Given the description of an element on the screen output the (x, y) to click on. 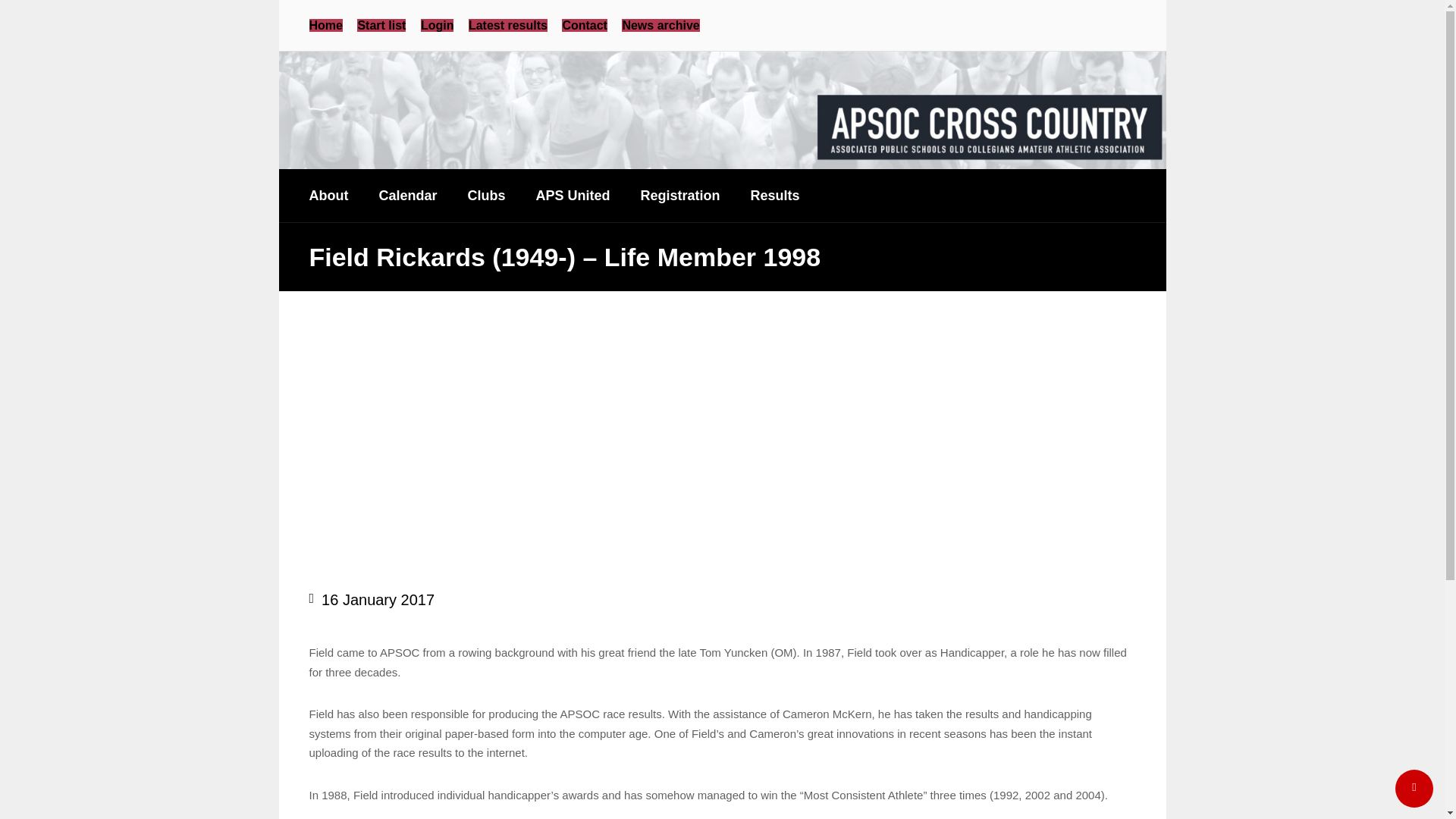
Contact (584, 24)
About (329, 194)
Latest results (507, 24)
Calendar (406, 194)
Home (325, 24)
APS United (573, 194)
News archive (659, 24)
Start list (381, 24)
Registration (680, 194)
Login (437, 24)
Clubs (486, 194)
Results (775, 194)
